Given the description of an element on the screen output the (x, y) to click on. 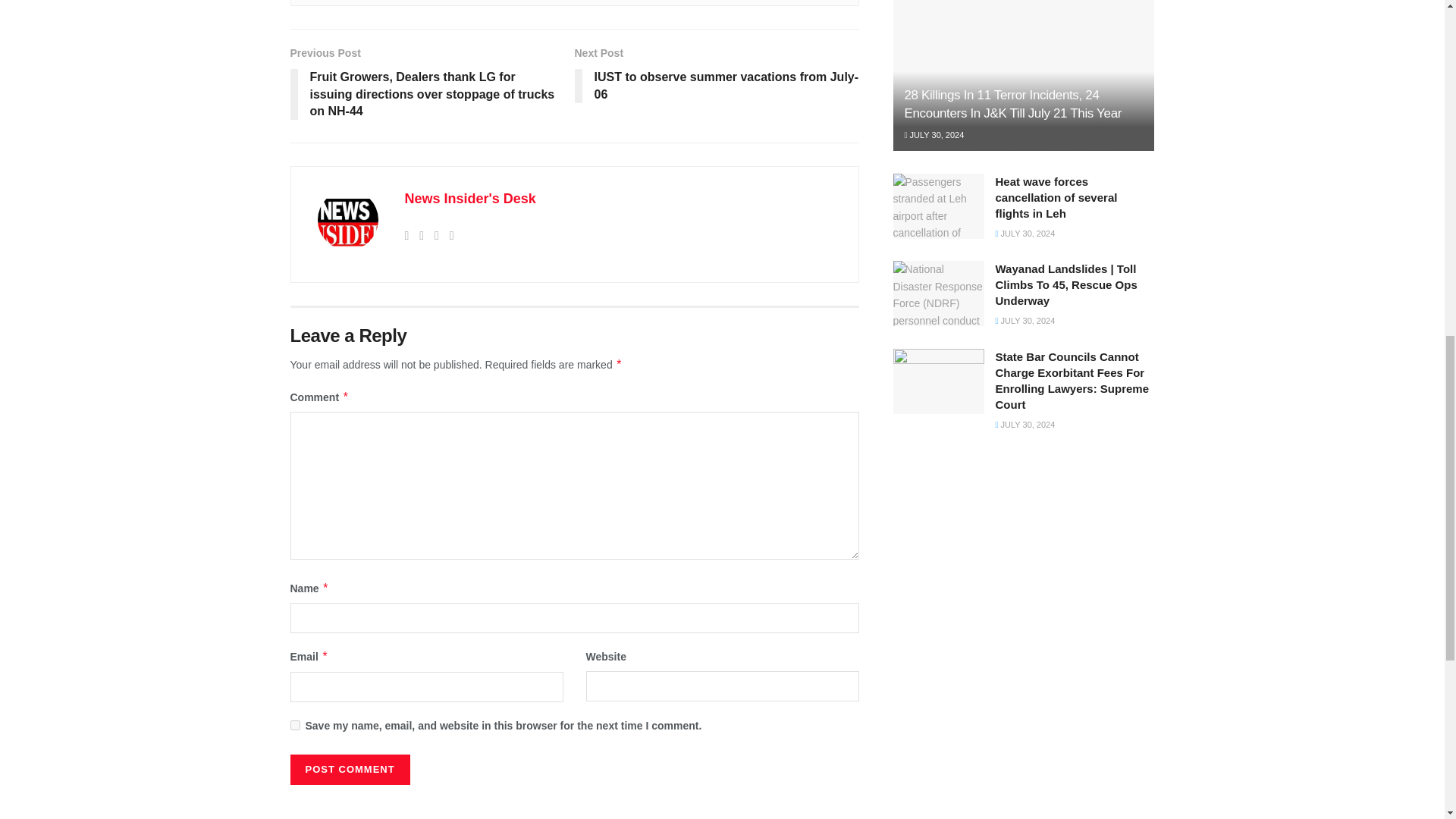
Post Comment (349, 769)
yes (294, 725)
